Given the description of an element on the screen output the (x, y) to click on. 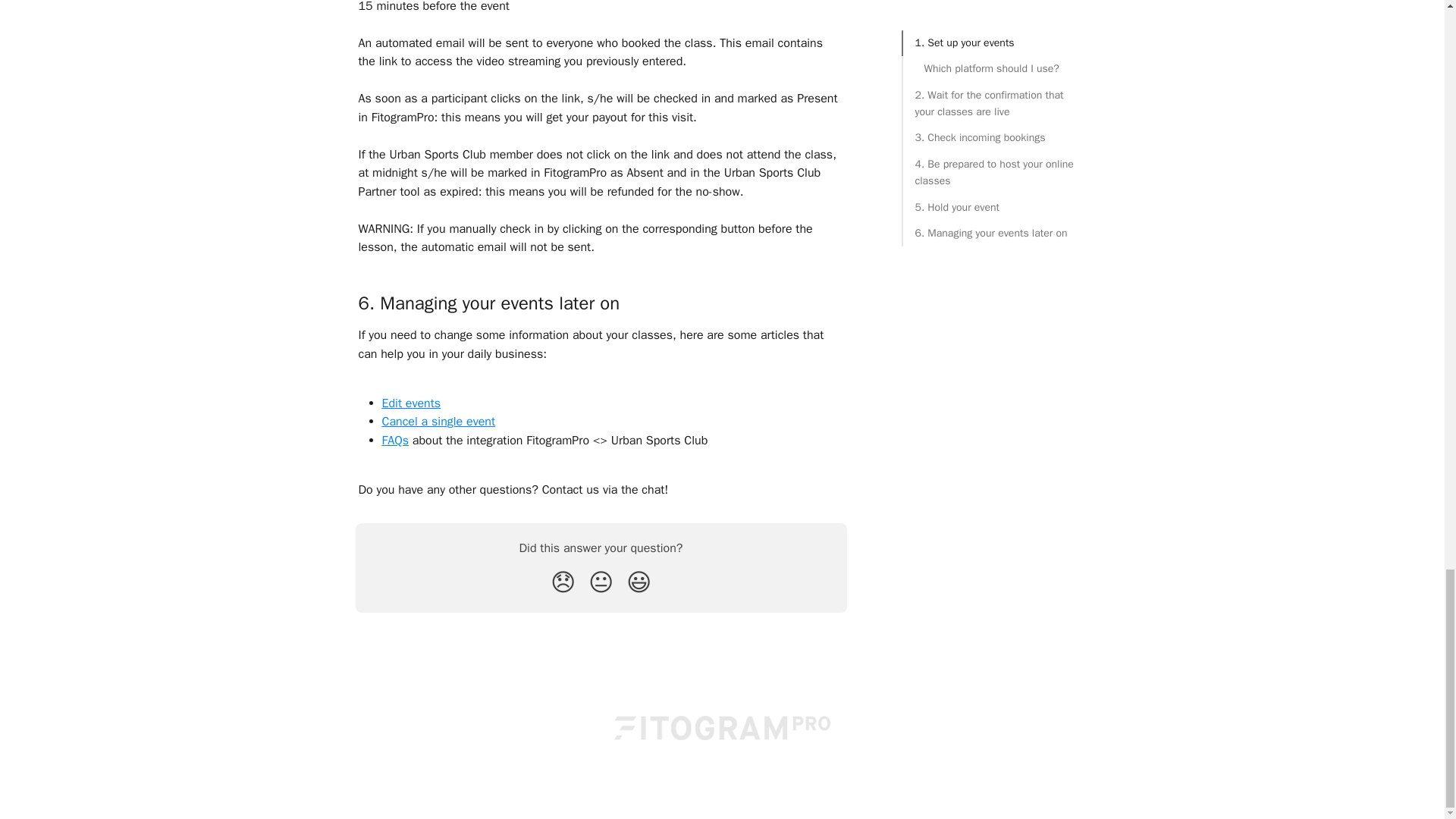
Cancel a single event (438, 421)
Edit events (411, 403)
FAQs (395, 440)
